Given the description of an element on the screen output the (x, y) to click on. 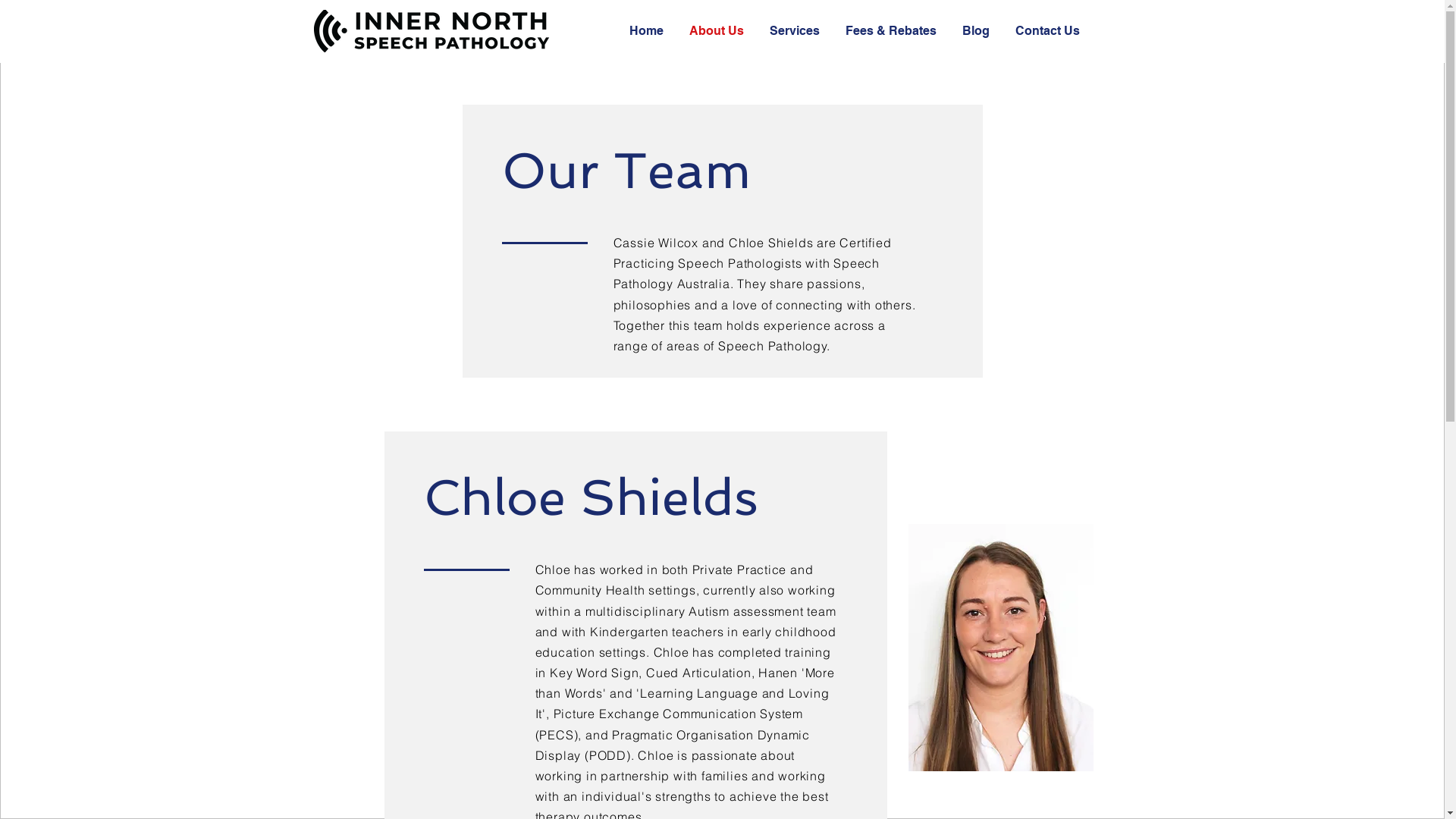
Blog Element type: text (977, 31)
Contact Us Element type: text (1048, 31)
About Us Element type: text (717, 31)
Fees & Rebates Element type: text (892, 31)
INSP logo colour.png Element type: hover (435, 30)
Home Element type: text (647, 31)
Services Element type: text (796, 31)
